Given the description of an element on the screen output the (x, y) to click on. 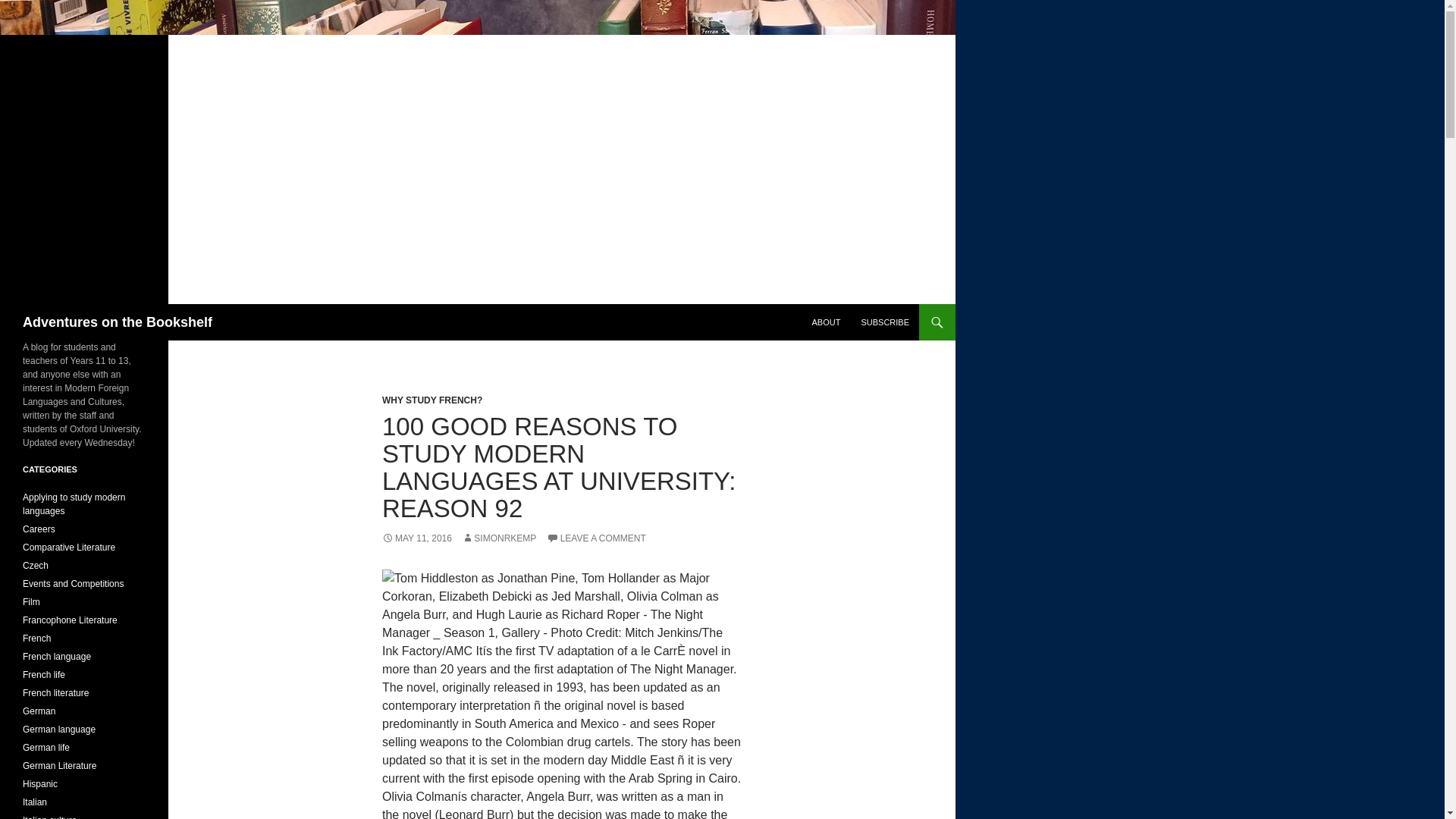
Film (31, 602)
LEAVE A COMMENT (596, 538)
French (36, 638)
Hispanic (40, 783)
Czech (35, 565)
Events and Competitions (73, 583)
ABOUT (825, 321)
SUBSCRIBE (884, 321)
Italian (34, 801)
Adventures on the Bookshelf (117, 321)
Applying to study modern languages (74, 504)
Careers (39, 529)
German life (46, 747)
